Given the description of an element on the screen output the (x, y) to click on. 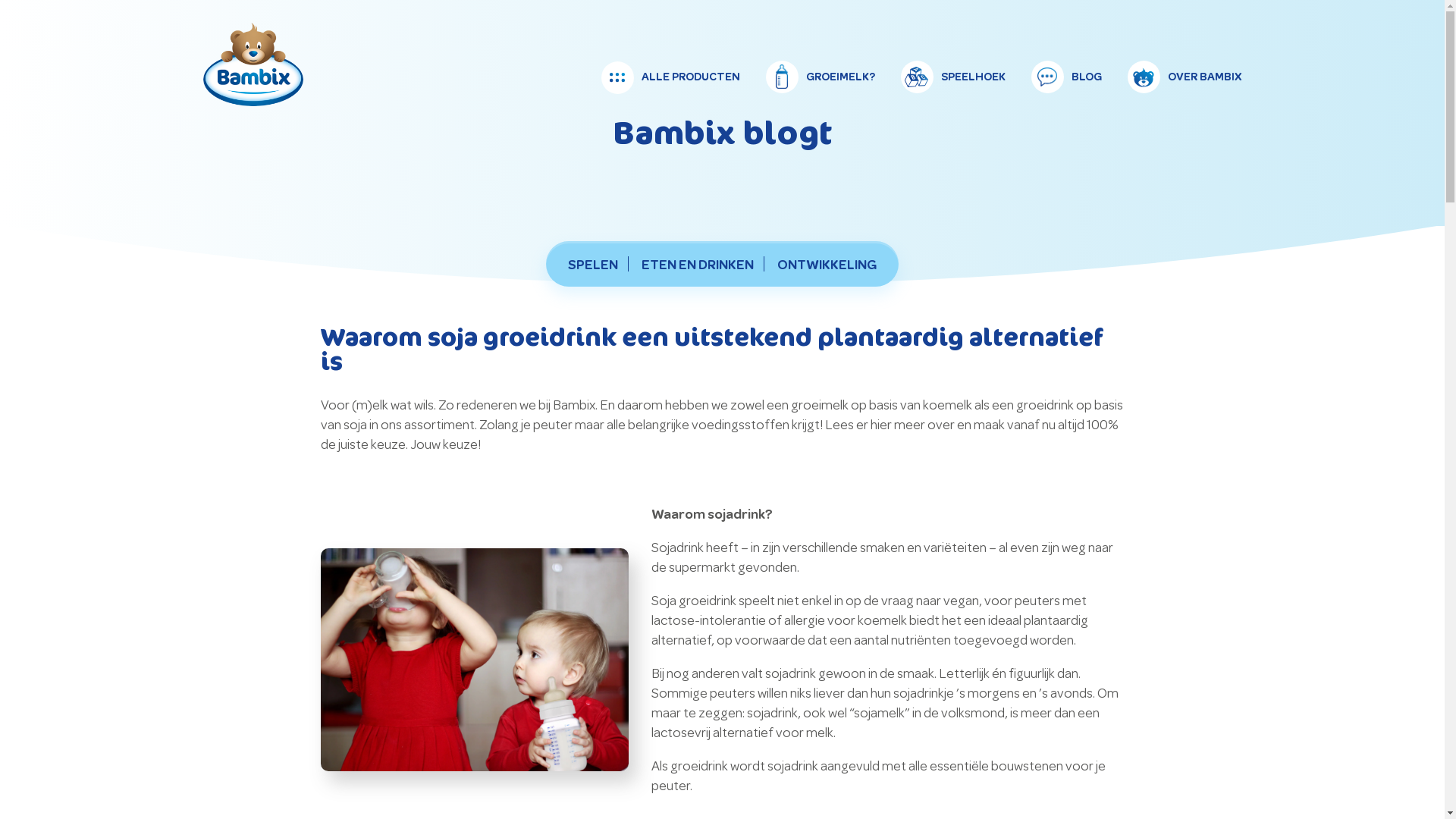
OVER BAMBIX Element type: text (1183, 77)
GROEIMELK? Element type: text (820, 77)
BLOG Element type: text (1066, 77)
Skip to content Element type: text (921, 60)
ONTWIKKELING Element type: text (826, 265)
ETEN EN DRINKEN Element type: text (697, 265)
Bambix Element type: hover (253, 102)
SPELEN Element type: text (592, 265)
SPEELHOEK Element type: text (952, 77)
ALLE PRODUCTEN Element type: text (669, 77)
